Given the description of an element on the screen output the (x, y) to click on. 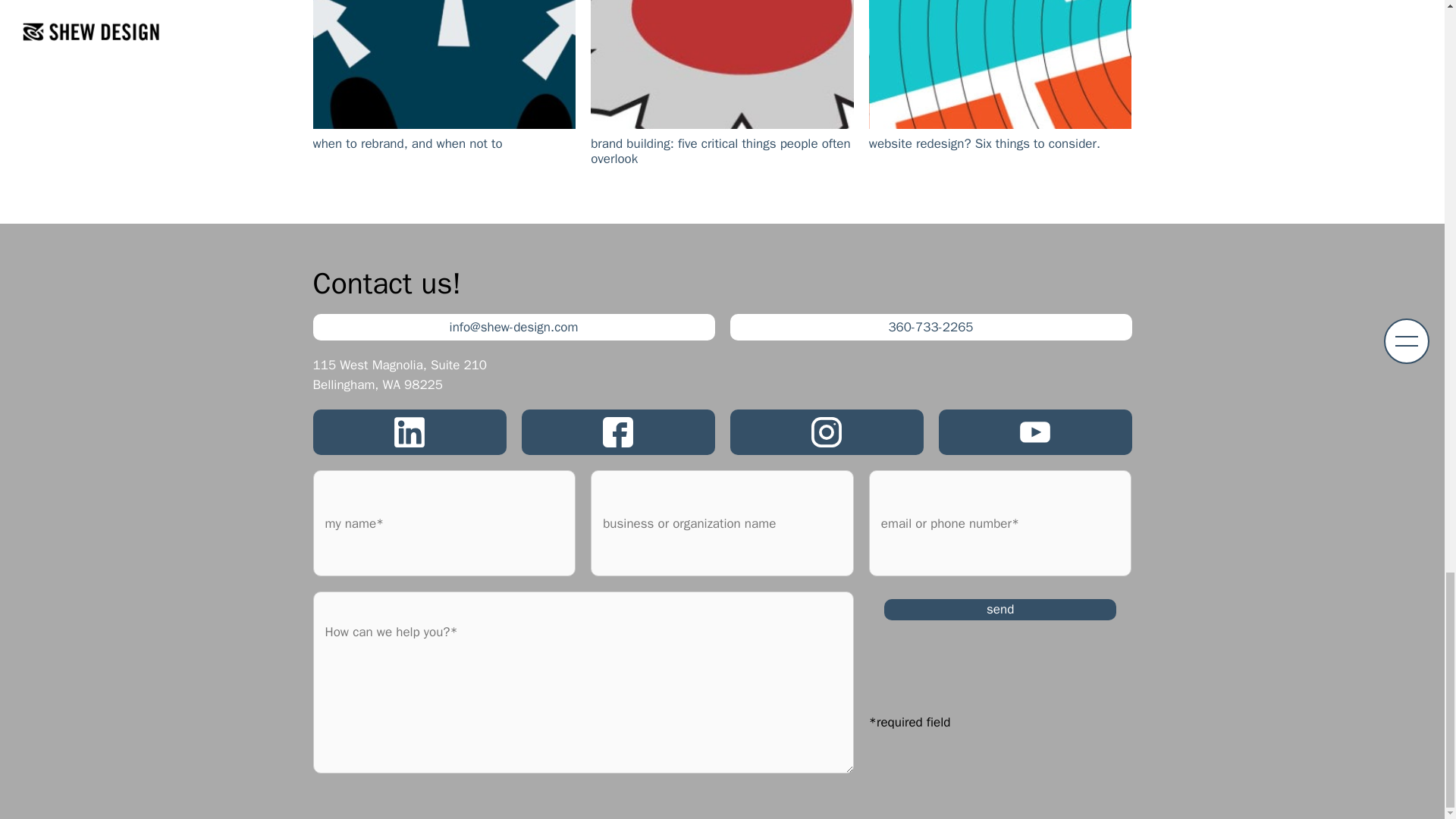
website redesign? Six things to consider. (1000, 96)
360-733-2265 (930, 327)
brand building: five critical things people often overlook (722, 96)
send (999, 608)
send (999, 608)
when to rebrand, and when not to (444, 96)
